Given the description of an element on the screen output the (x, y) to click on. 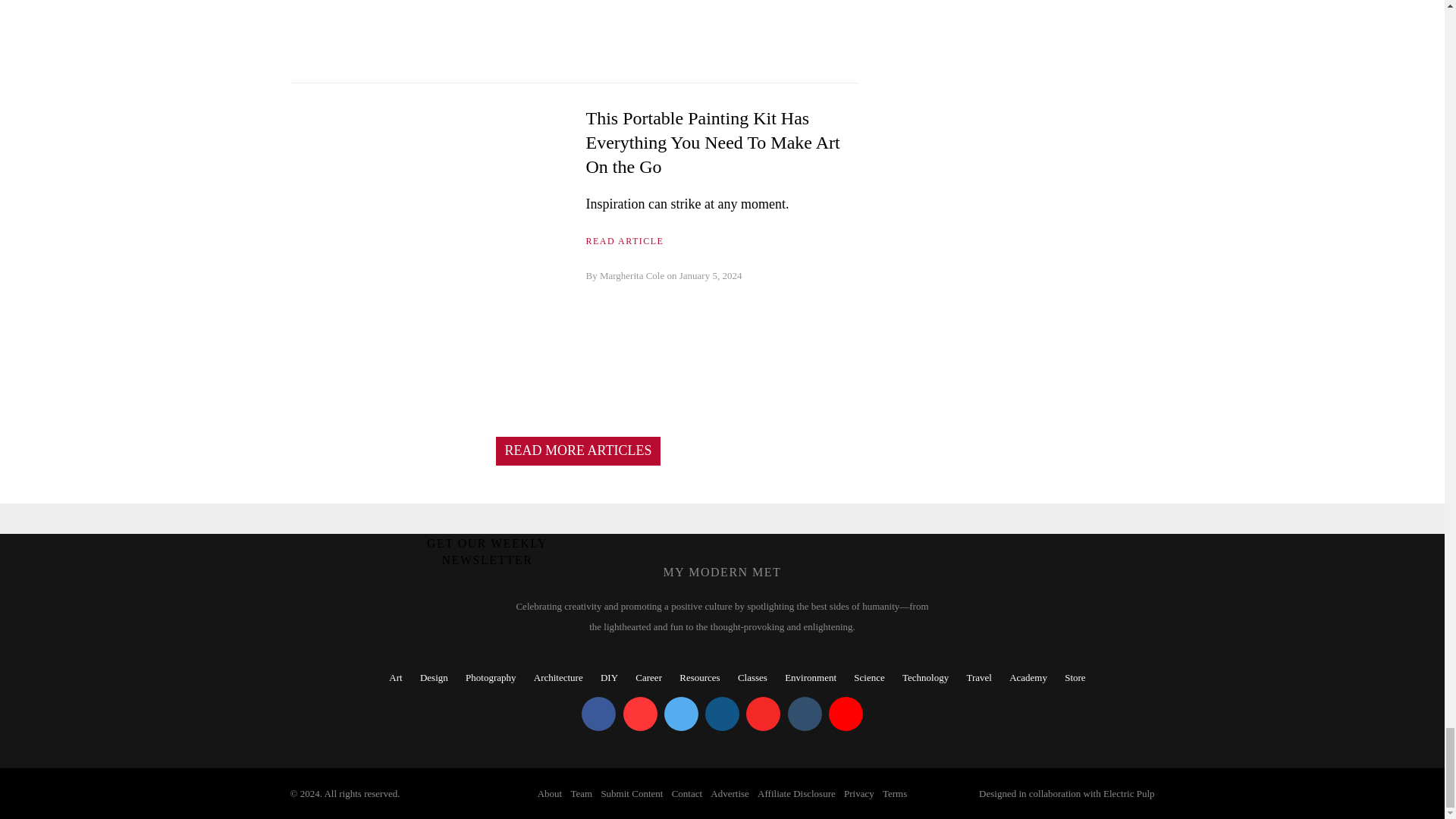
My Modern Met on Instagram (721, 713)
My Modern Met on Twitter (680, 713)
My Modern Met on Facebook (597, 713)
My Modern Met on Pinterest (640, 713)
My Modern Met on Tumblr (804, 713)
